Given the description of an element on the screen output the (x, y) to click on. 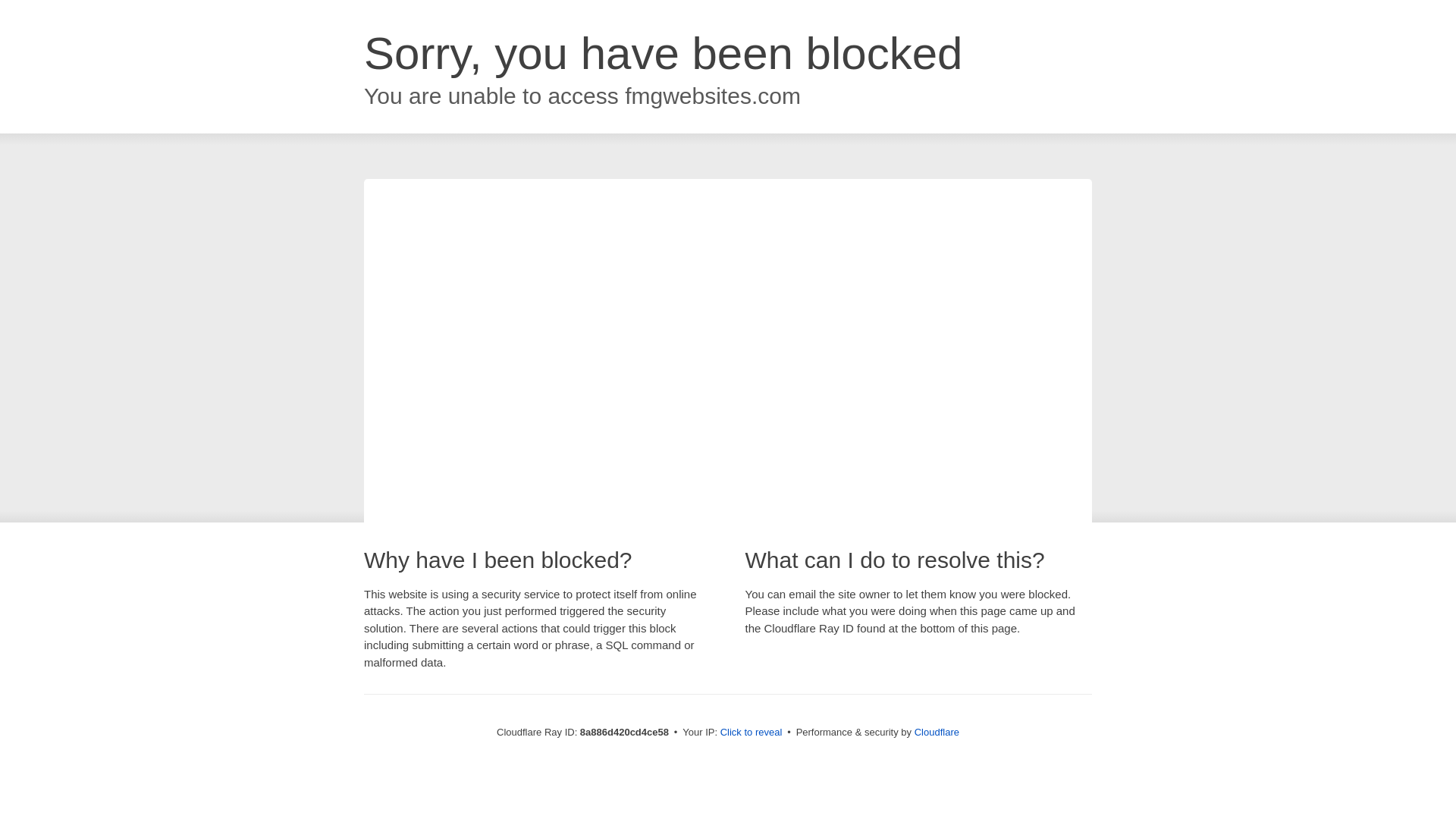
Click to reveal (751, 732)
Cloudflare (936, 731)
